Given the description of an element on the screen output the (x, y) to click on. 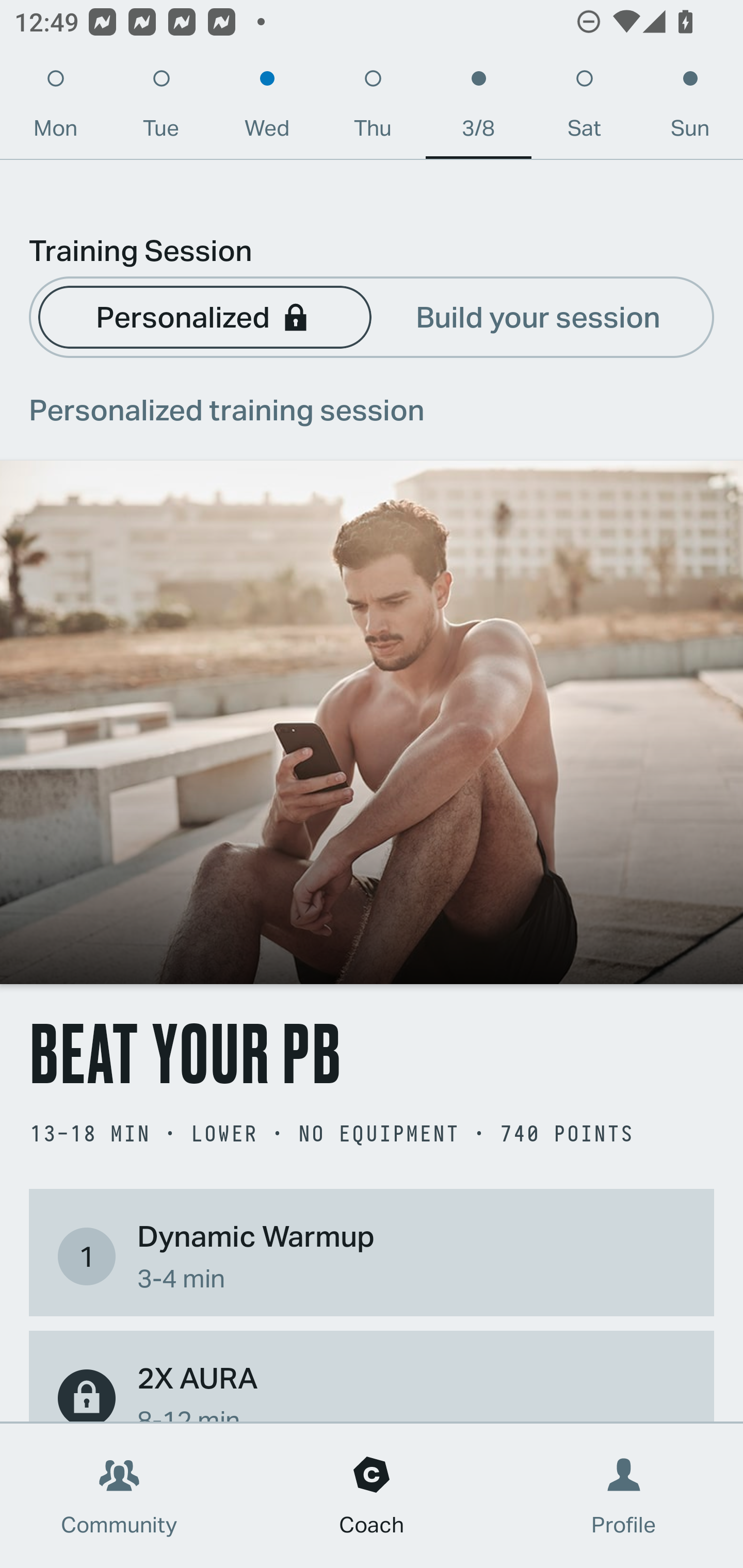
Mon (55, 108)
Tue (160, 108)
Wed (266, 108)
Thu (372, 108)
3/8 (478, 108)
Sat (584, 108)
Sun (690, 108)
Personalized (204, 315)
Build your session (538, 315)
1 Dynamic Warmup 3-4 min (371, 1256)
2X AURA 8-12 min (371, 1388)
Community (119, 1495)
Profile (624, 1495)
